Given the description of an element on the screen output the (x, y) to click on. 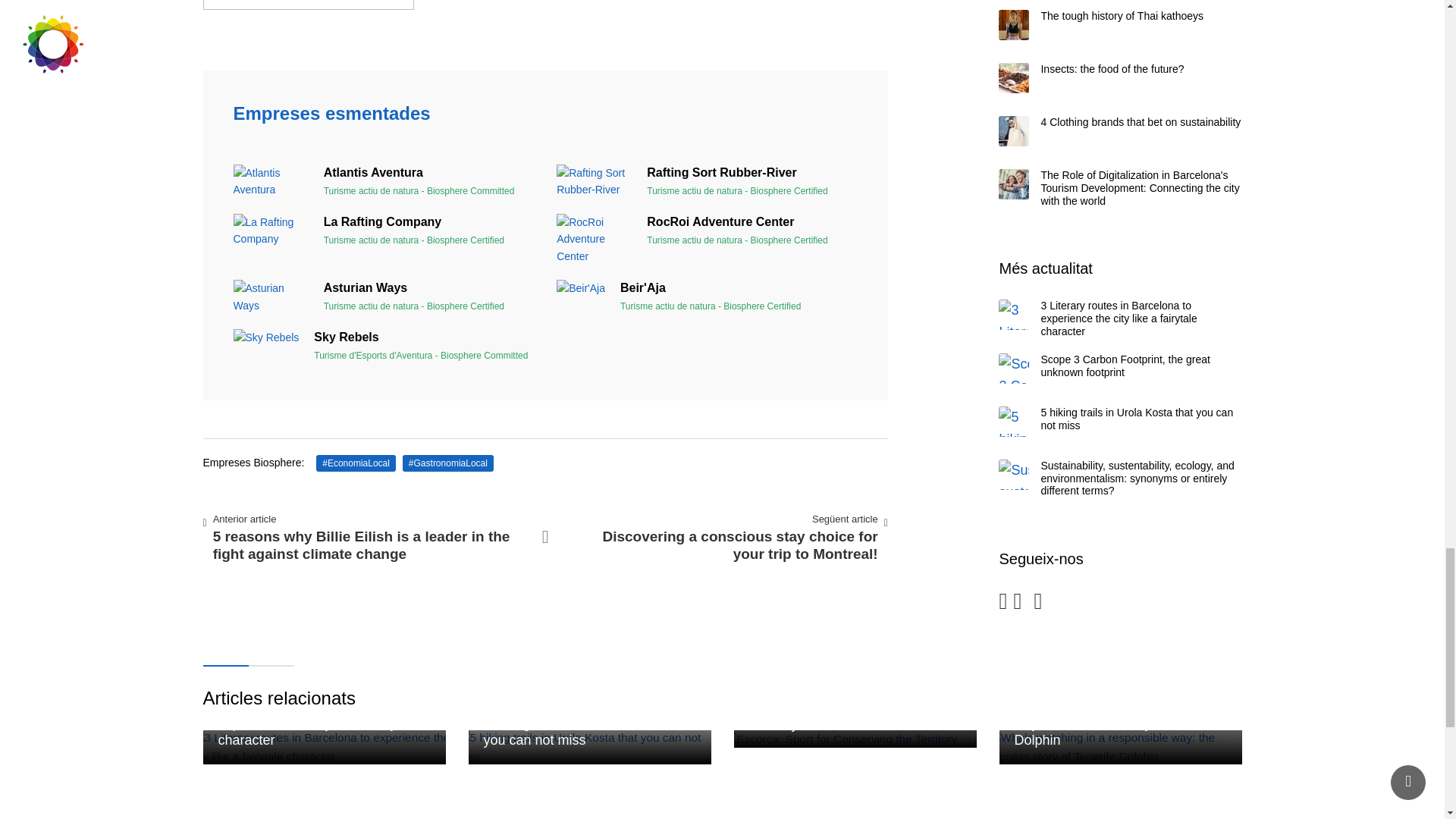
Asturian Ways (270, 296)
Asturian Ways (383, 296)
Atlantis Aventura (383, 296)
Rafting Sort Rubber-River (383, 181)
Atlantis Aventura (593, 181)
RocRoi Adventure Center (270, 181)
Rafting Sort Rubber-River (593, 238)
